Given the description of an element on the screen output the (x, y) to click on. 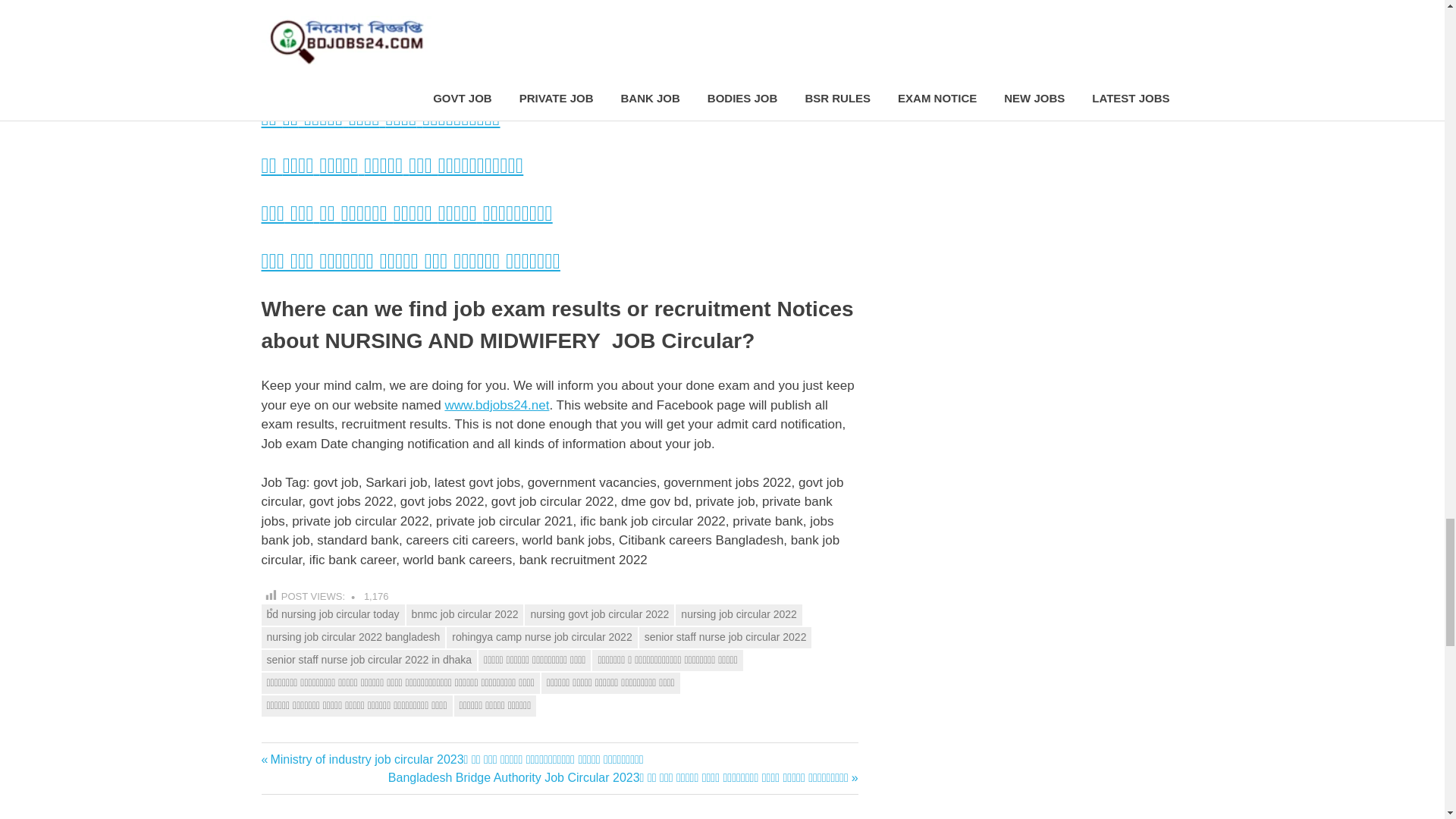
bnmc job circular 2022 (465, 614)
nursing job circular 2022 (738, 614)
senior staff nurse job circular 2022 (725, 637)
nursing govt job circular 2022 (599, 614)
senior staff nurse job circular 2022 in dhaka (368, 660)
www.bdjobs24.net (496, 405)
rohingya camp nurse job circular 2022 (541, 637)
nursing job circular 2022 bangladesh (352, 637)
bd nursing job circular today (332, 614)
